Given the description of an element on the screen output the (x, y) to click on. 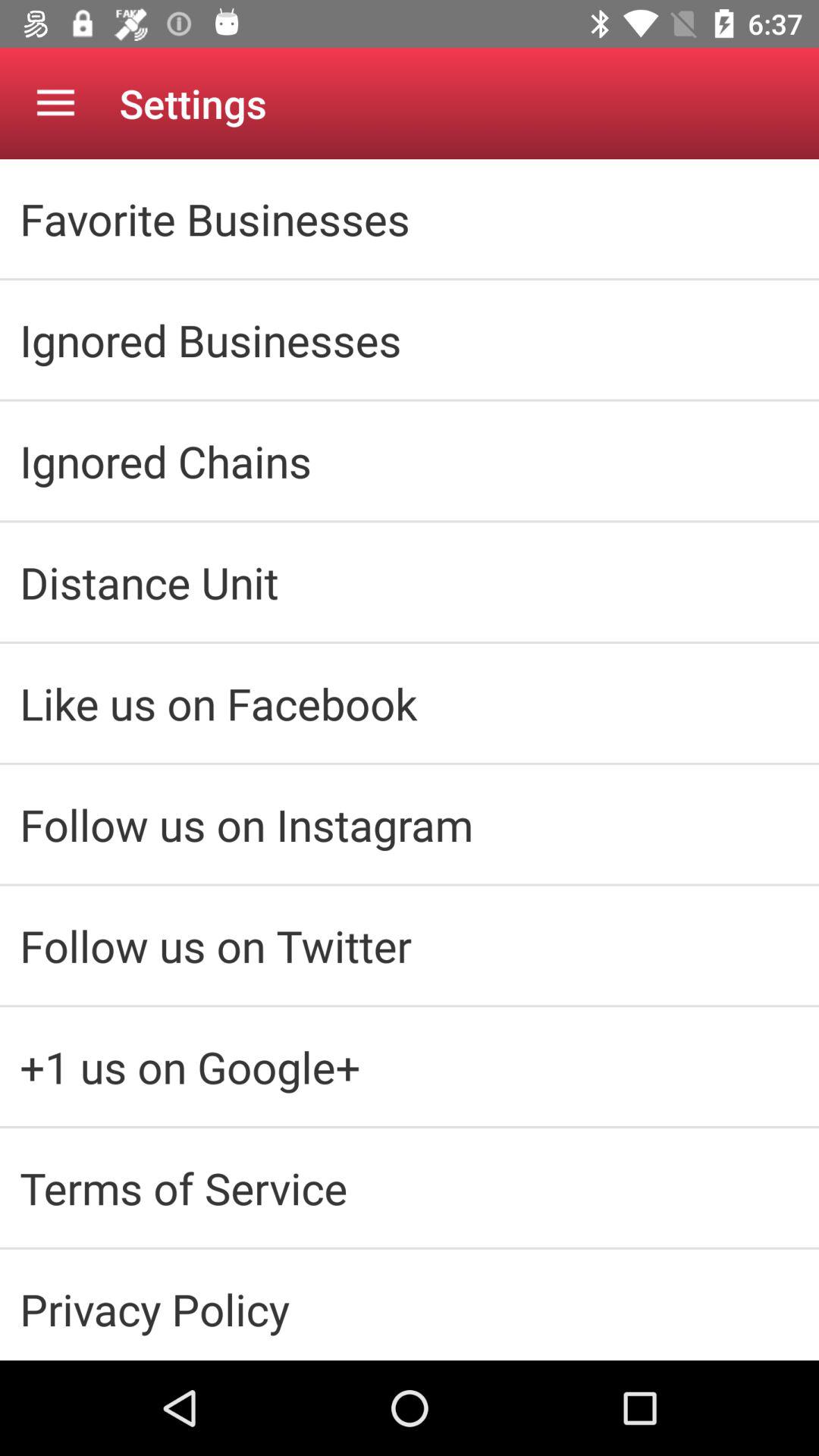
tap the item below the terms of service icon (409, 1308)
